Given the description of an element on the screen output the (x, y) to click on. 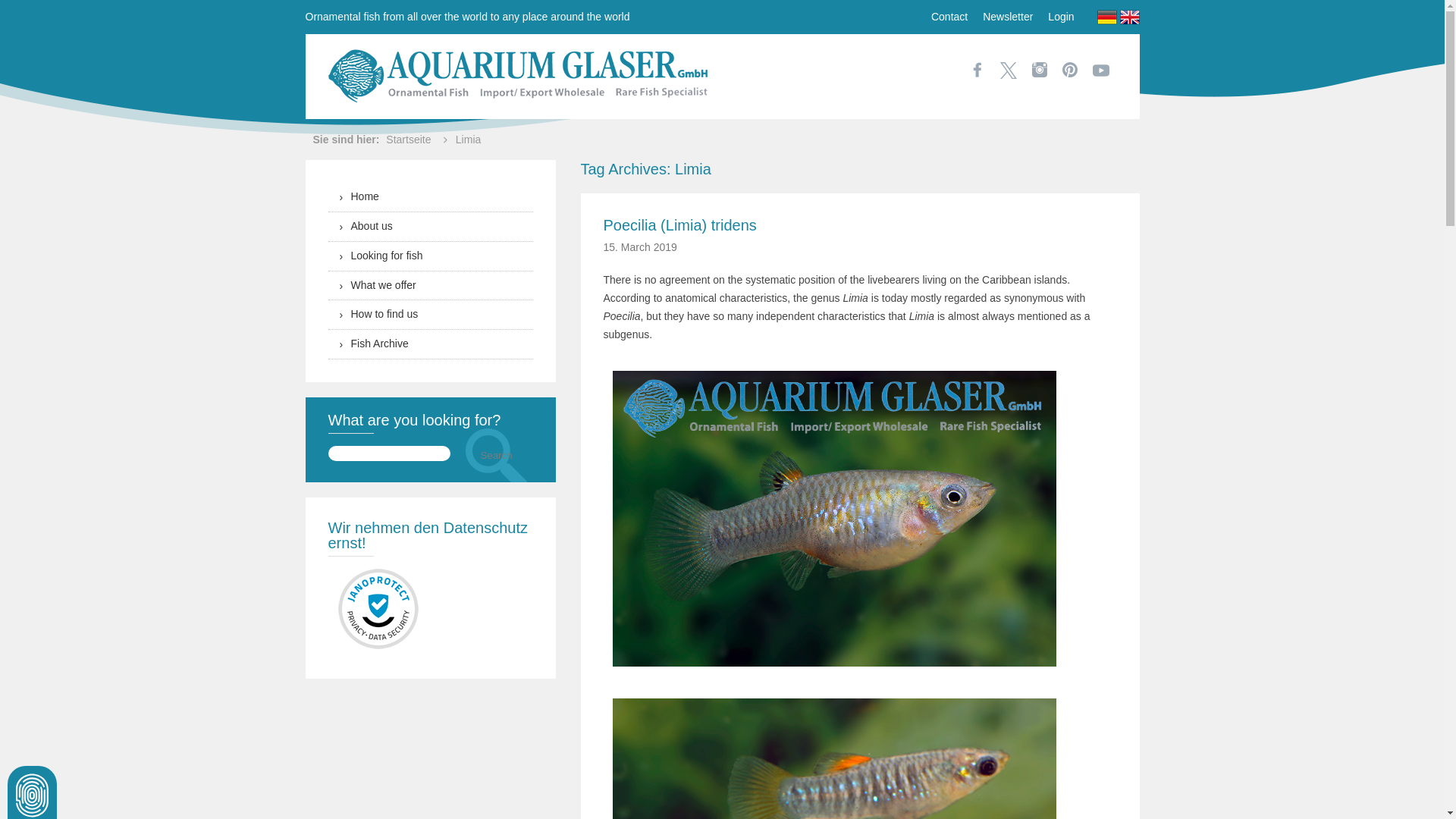
How to find us (429, 315)
Aquarium Glaser bei Twitter (1008, 71)
Aquarium Glaser bei YouTube (1100, 71)
Looking for fish (429, 256)
About us (429, 226)
Newsletter (1008, 16)
Aquarium Glaser bei Instagram (1038, 70)
What we offer (429, 286)
Aquarium Glaser bei Facebook (977, 70)
Startseite (407, 139)
Lexicon (429, 344)
Contact (949, 16)
Search (497, 455)
Fish Archive (429, 344)
Login (1061, 16)
